Given the description of an element on the screen output the (x, y) to click on. 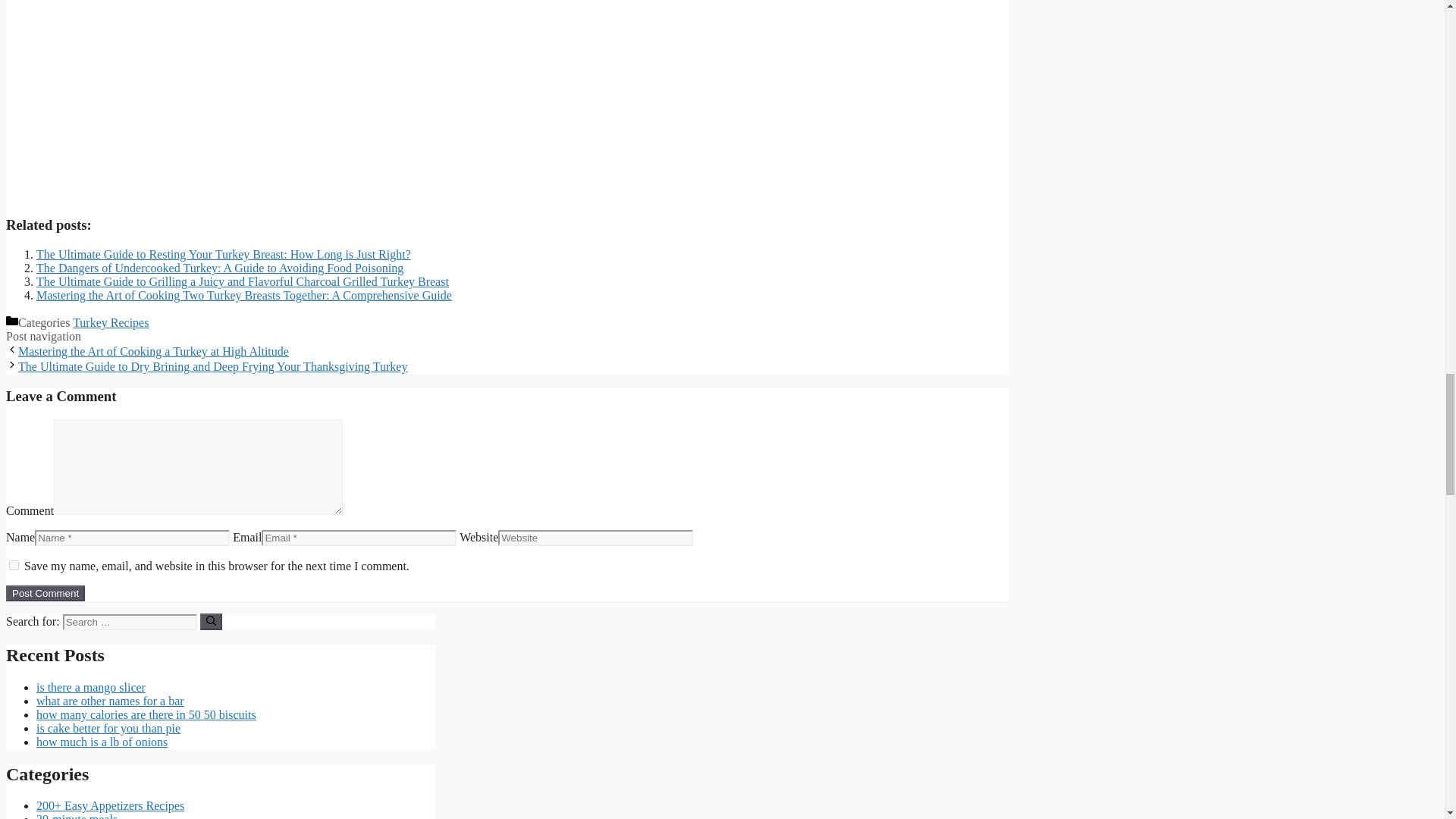
Mastering the Art of Cooking a Turkey at High Altitude (152, 350)
Post Comment (44, 593)
yes (13, 565)
what are other names for a bar (110, 700)
Turkey Recipes (110, 322)
how much is a lb of onions (101, 741)
is cake better for you than pie (108, 727)
